Given the description of an element on the screen output the (x, y) to click on. 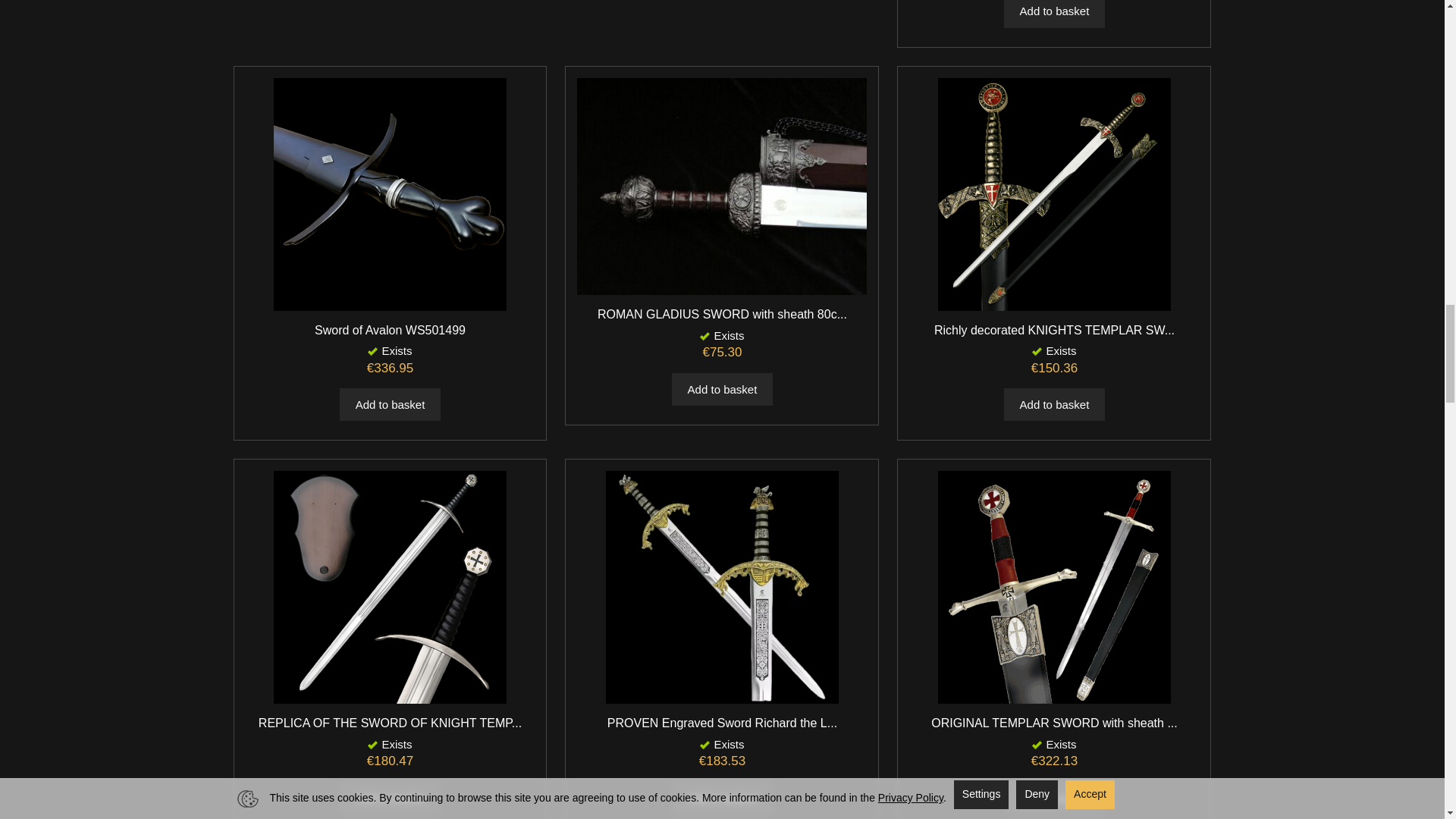
ROMAN GLADIUS SWORD with sheath 80cm JT6056 MEGA HIT (721, 314)
REPLICA OF THE SWORD OF KNIGHT TEMPLARS FROM TABLO SW-369 (390, 722)
